Given the description of an element on the screen output the (x, y) to click on. 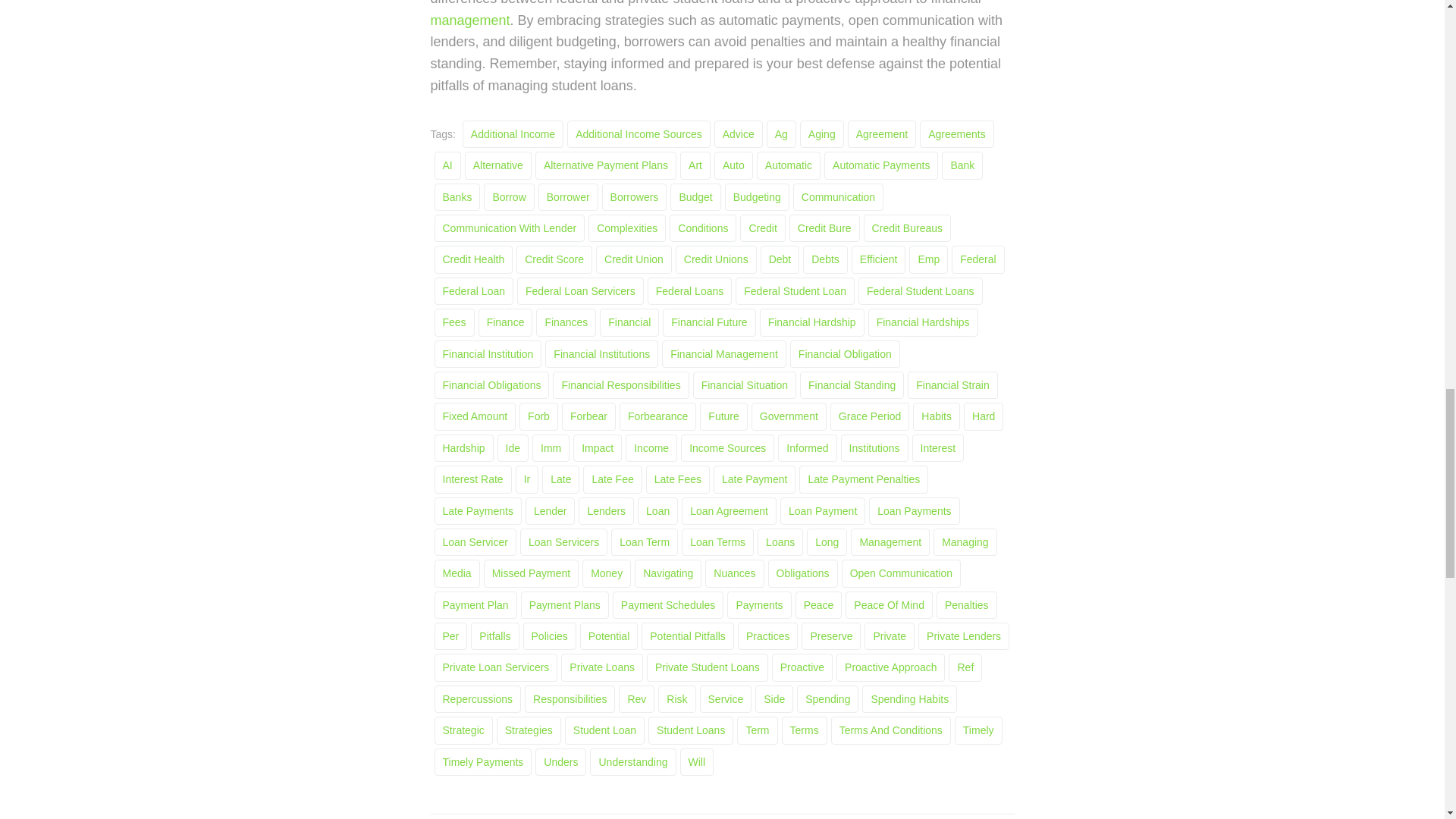
Posts tagged with management (470, 20)
